Given the description of an element on the screen output the (x, y) to click on. 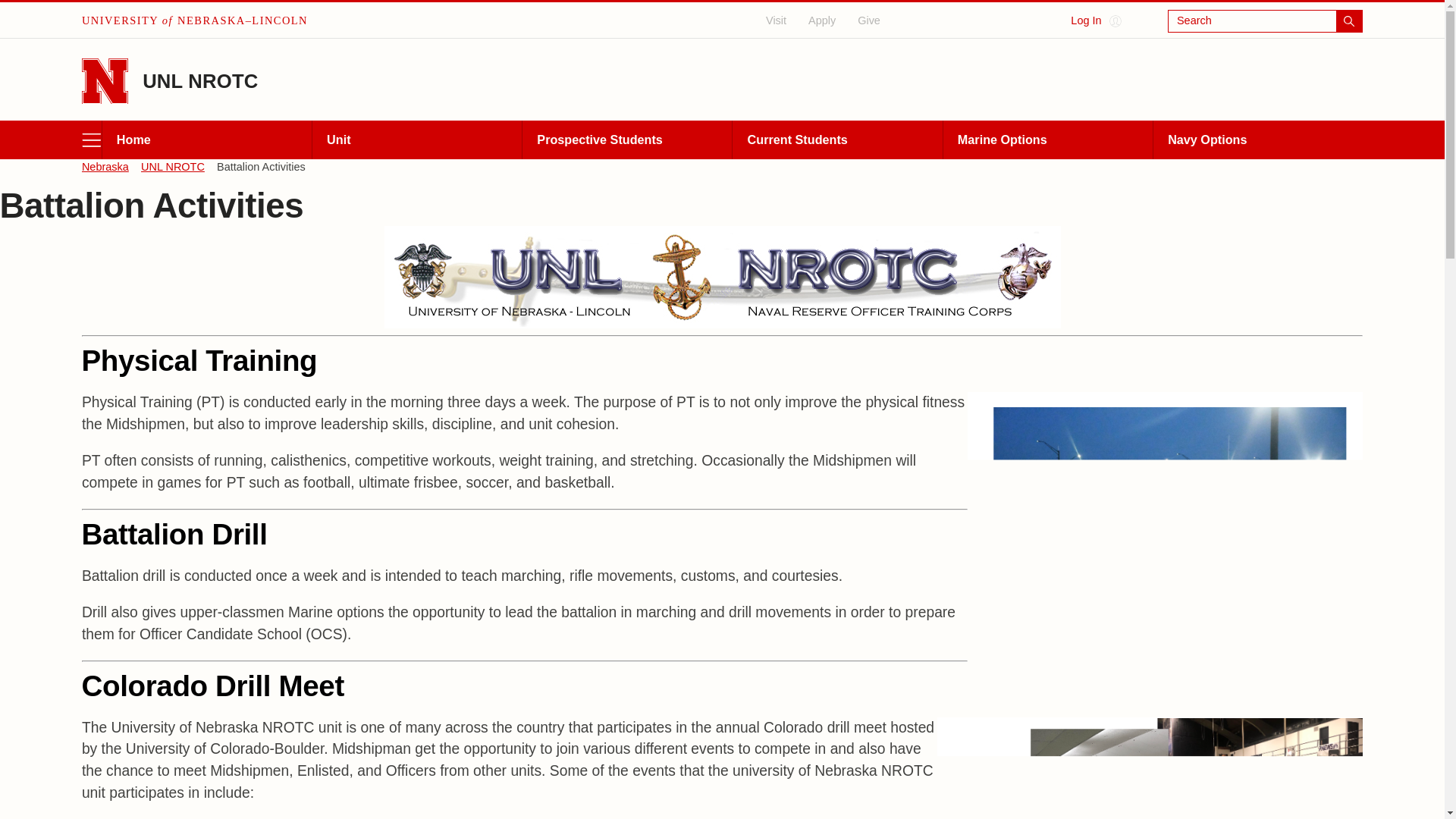
Home (206, 139)
Give (869, 20)
Prospective Students (626, 139)
Visit (776, 20)
Log In (1095, 21)
UNL NROTC (199, 79)
Apply (822, 20)
Search (1264, 21)
Navy Options (1257, 139)
Current Students (837, 139)
